Given the description of an element on the screen output the (x, y) to click on. 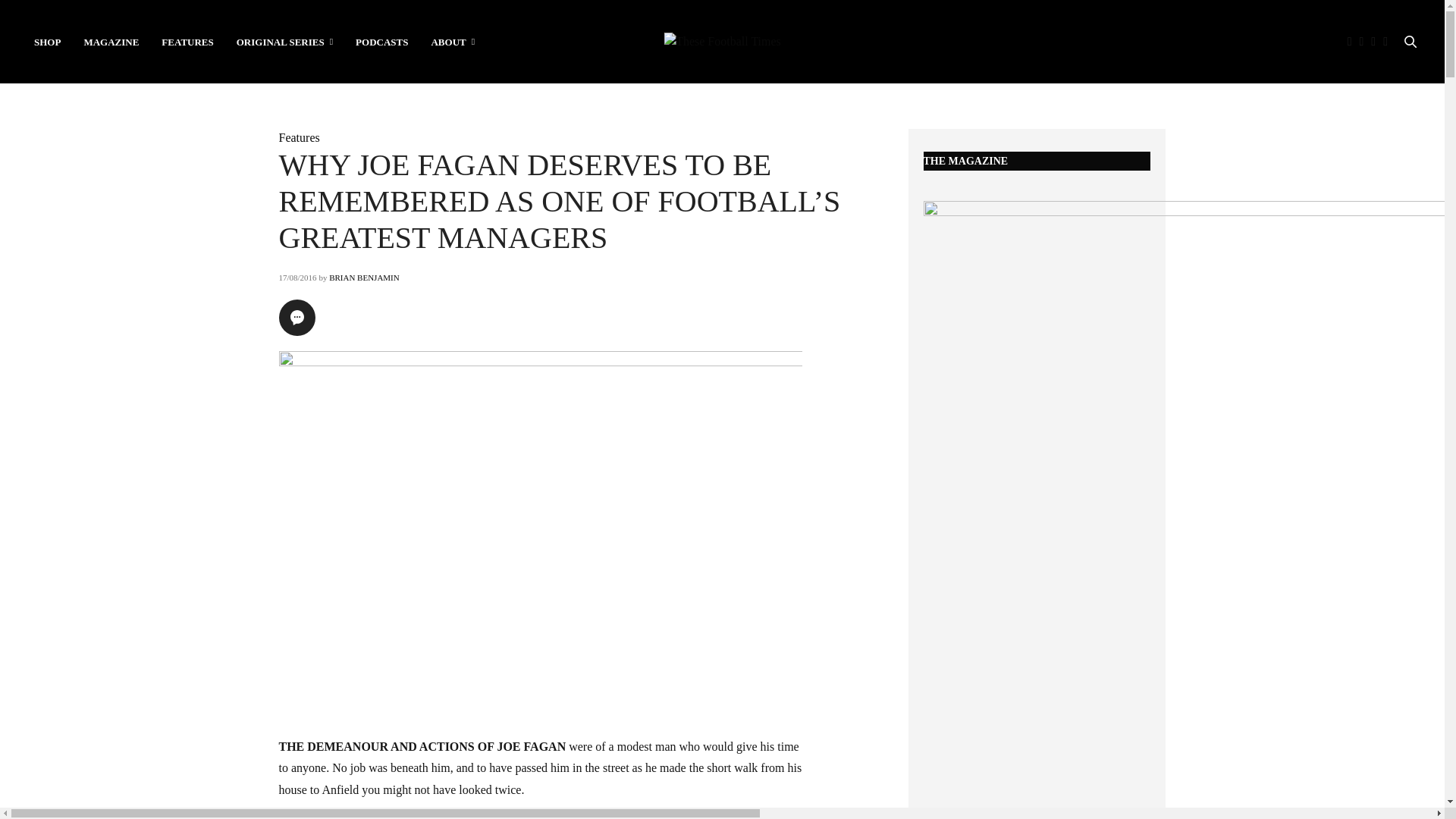
FEATURES (186, 41)
Posts by Brian Benjamin (363, 276)
MAGAZINE (110, 41)
These Football Times (721, 41)
ORIGINAL SERIES (284, 41)
